Given the description of an element on the screen output the (x, y) to click on. 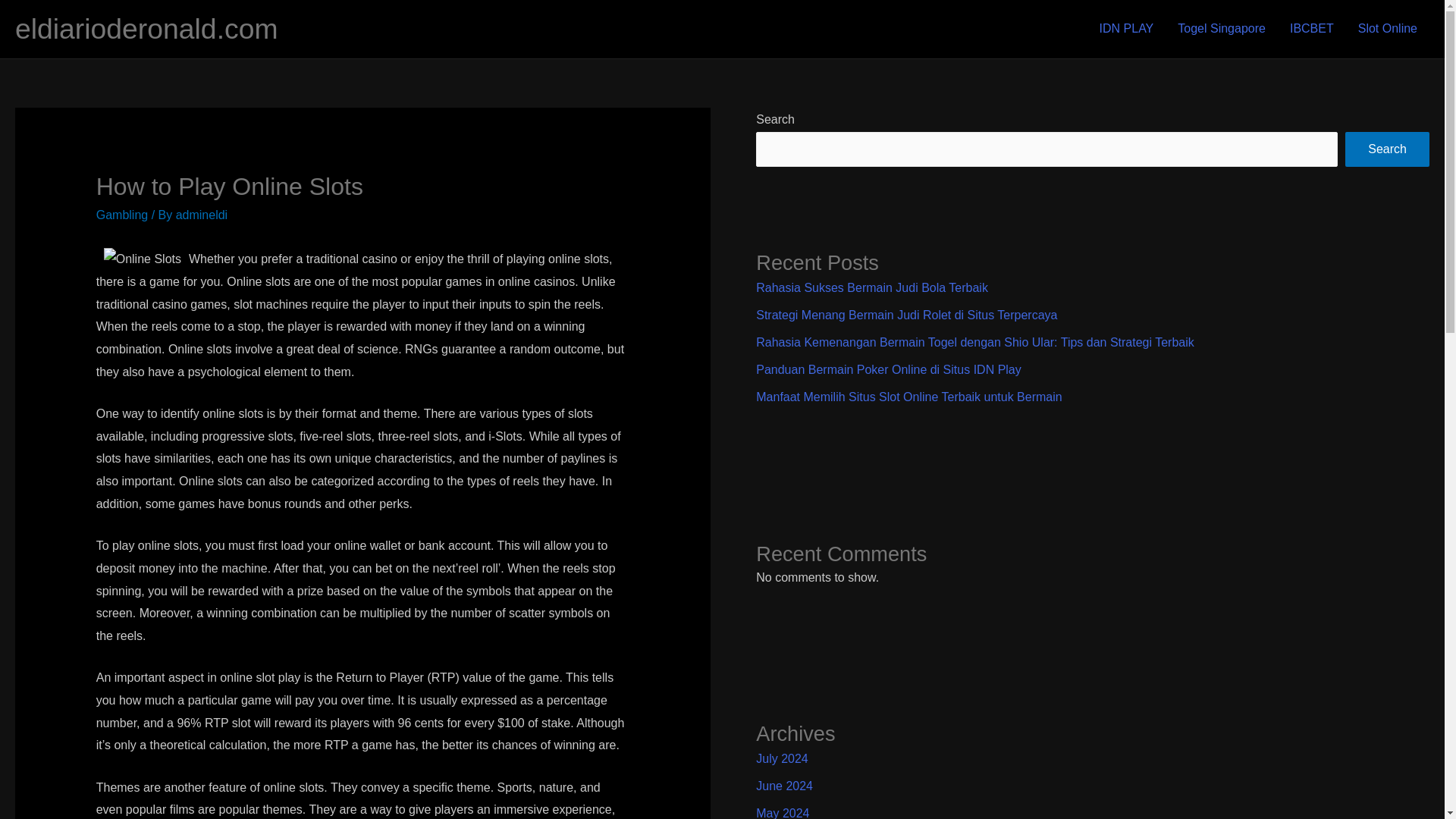
Togel Singapore (1222, 28)
IDN PLAY (1126, 28)
Panduan Bermain Poker Online di Situs IDN Play (888, 369)
IBCBET (1311, 28)
Manfaat Memilih Situs Slot Online Terbaik untuk Bermain (908, 396)
admineldi (201, 214)
Search (1387, 149)
Slot Online (1387, 28)
Strategi Menang Bermain Judi Rolet di Situs Terpercaya (906, 314)
May 2024 (782, 812)
Gambling (122, 214)
July 2024 (781, 758)
eldiarioderonald.com (146, 29)
Rahasia Sukses Bermain Judi Bola Terbaik (871, 287)
